Given the description of an element on the screen output the (x, y) to click on. 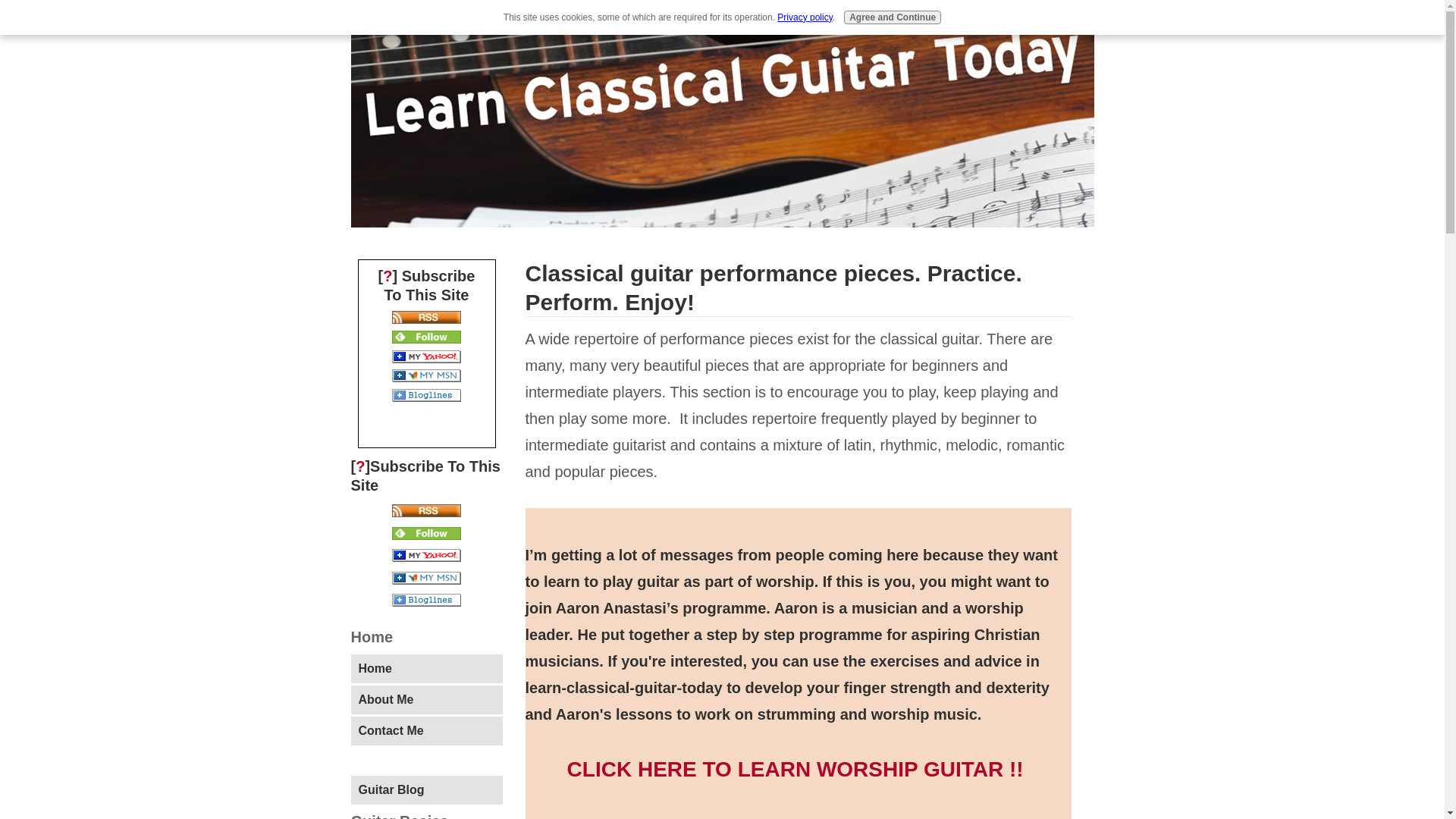
About Me (426, 699)
Home (426, 668)
Contact Me (426, 730)
CLICK HERE TO LEARN WORSHIP GUITAR !! (795, 770)
Guitar Blog (426, 789)
